Given the description of an element on the screen output the (x, y) to click on. 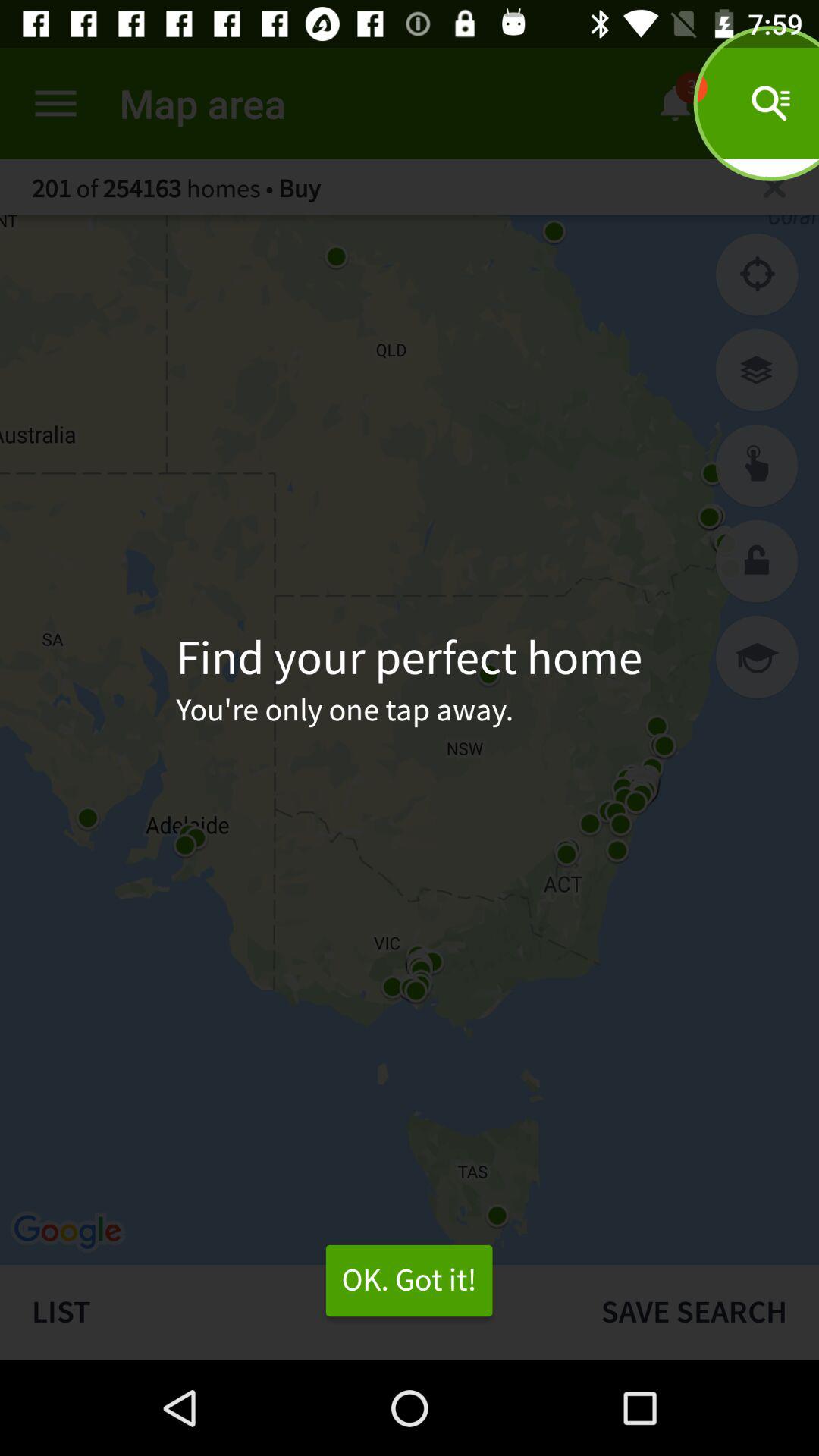
choose the icon to the right of the 201 of 254163 icon (774, 186)
